Given the description of an element on the screen output the (x, y) to click on. 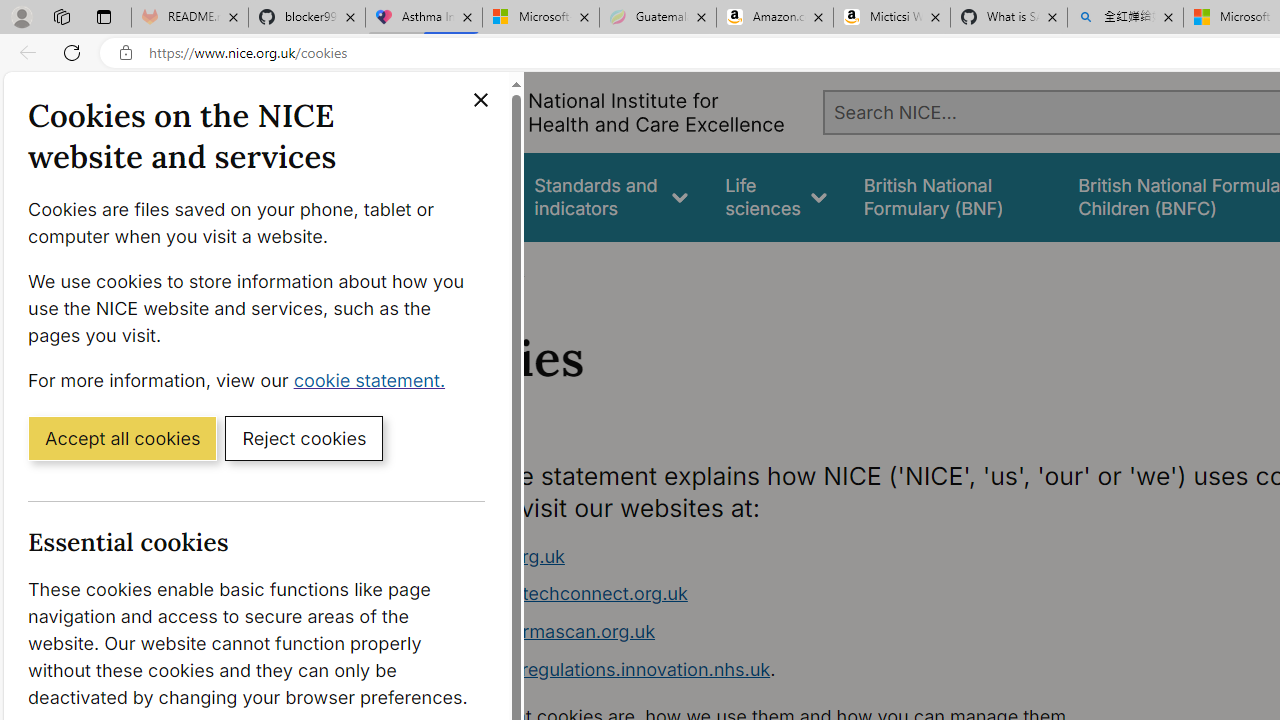
www.ukpharmascan.org.uk (796, 632)
Asthma Inhalers: Names and Types (424, 17)
www.digitalregulations.innovation.nhs.uk. (796, 669)
Home> (433, 268)
Guidance (458, 196)
www.nice.org.uk (796, 556)
